Given the description of an element on the screen output the (x, y) to click on. 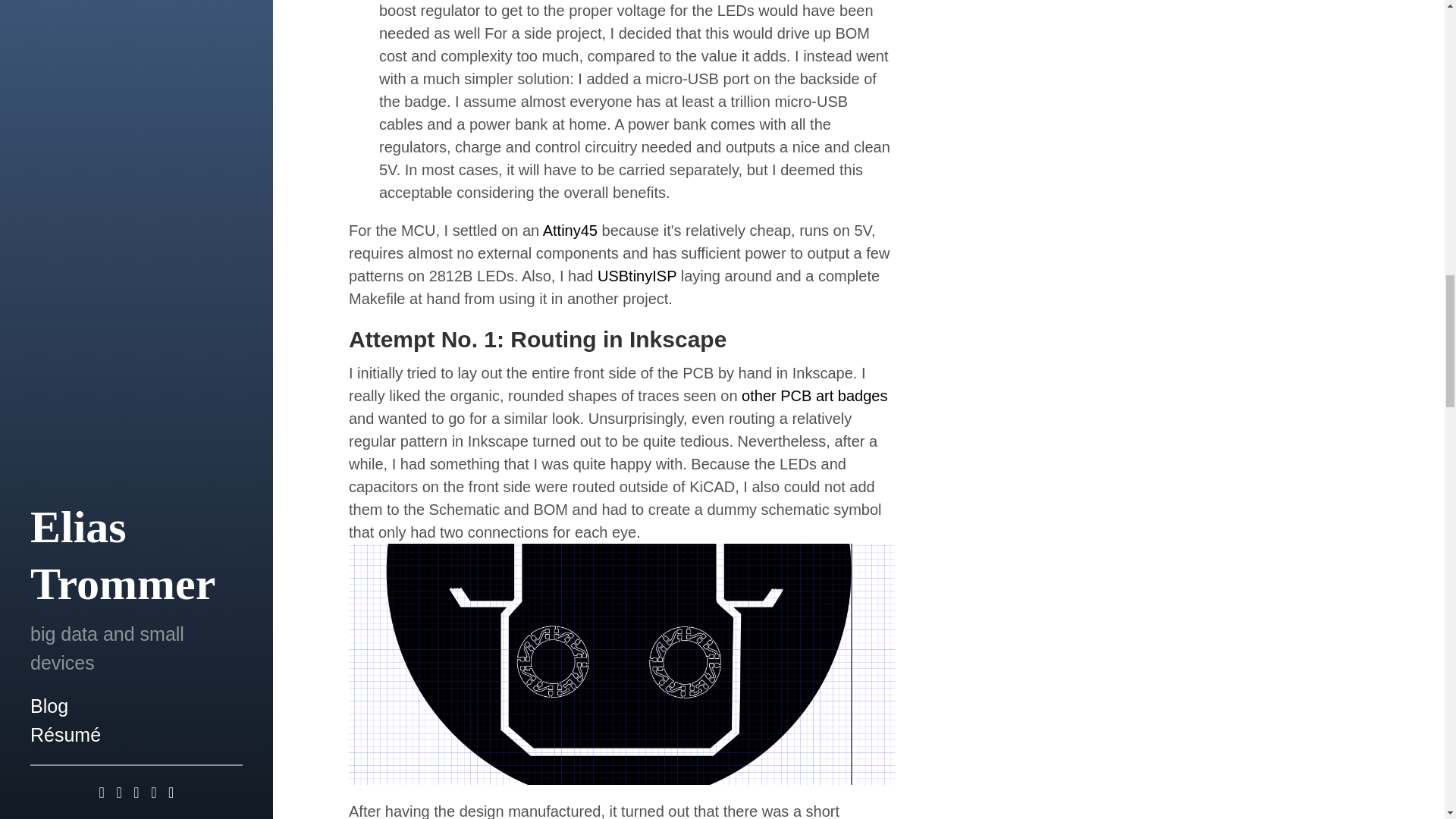
other PCB art badges (813, 395)
Attiny45 (569, 230)
USBtinyISP (636, 275)
